Given the description of an element on the screen output the (x, y) to click on. 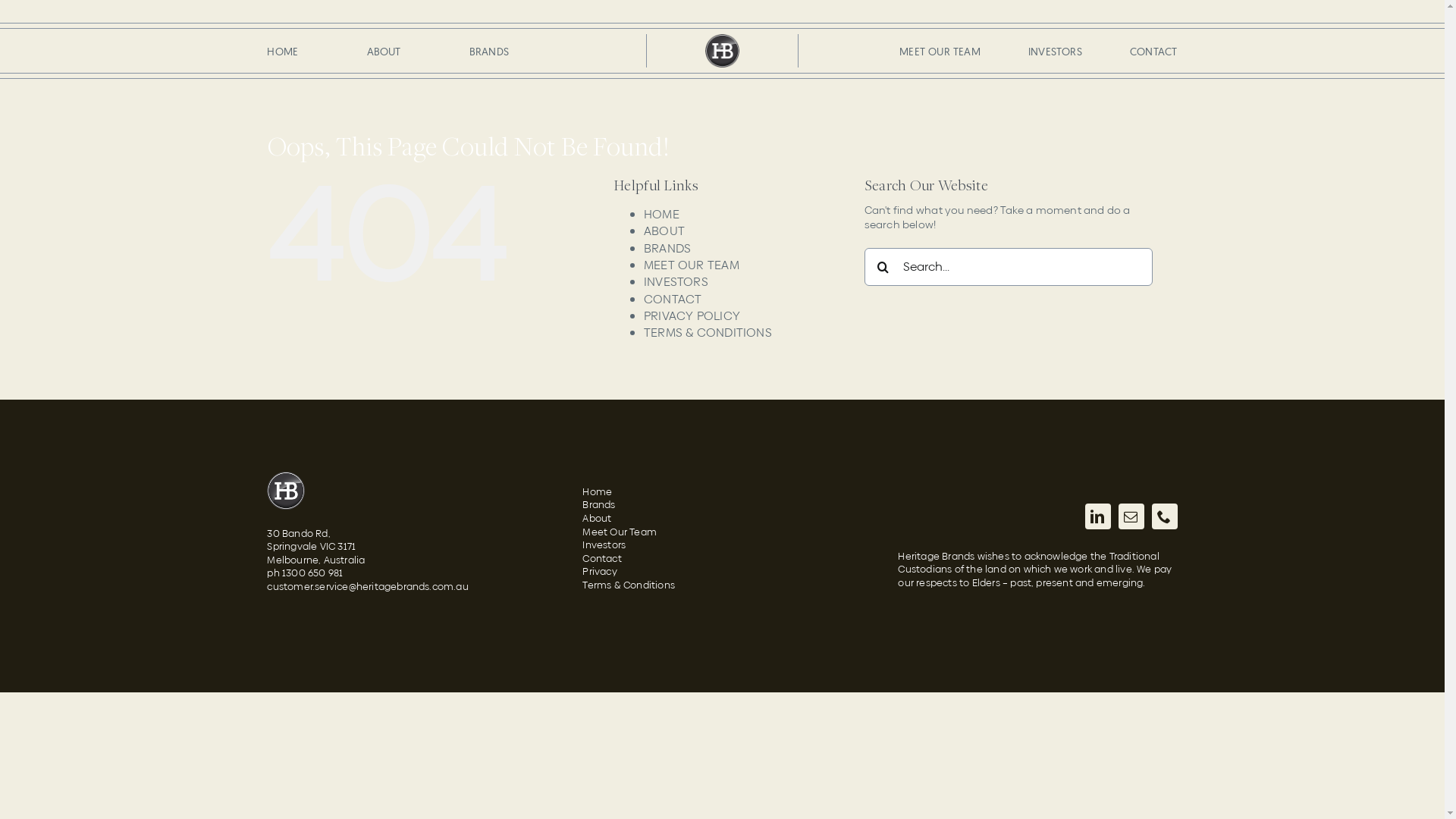
BRANDS Element type: text (488, 51)
HOME Element type: text (661, 213)
CONTACT Element type: text (1152, 51)
Contact Element type: text (721, 558)
CONTACT Element type: text (672, 298)
HOME Element type: text (282, 51)
ABOUT Element type: text (384, 51)
MEET OUR TEAM Element type: text (691, 264)
Meet Our Team Element type: text (721, 532)
Terms & Conditions Element type: text (721, 585)
ABOUT Element type: text (663, 230)
INVESTORS Element type: text (675, 281)
About Element type: text (721, 518)
Brands Element type: text (721, 504)
TERMS & CONDITIONS Element type: text (707, 332)
BRANDS Element type: text (666, 248)
Privacy Element type: text (721, 571)
Investors Element type: text (721, 545)
PRIVACY POLICY Element type: text (691, 315)
Home Element type: text (721, 491)
MEET OUR TEAM Element type: text (939, 51)
INVESTORS Element type: text (1055, 51)
